Given the description of an element on the screen output the (x, y) to click on. 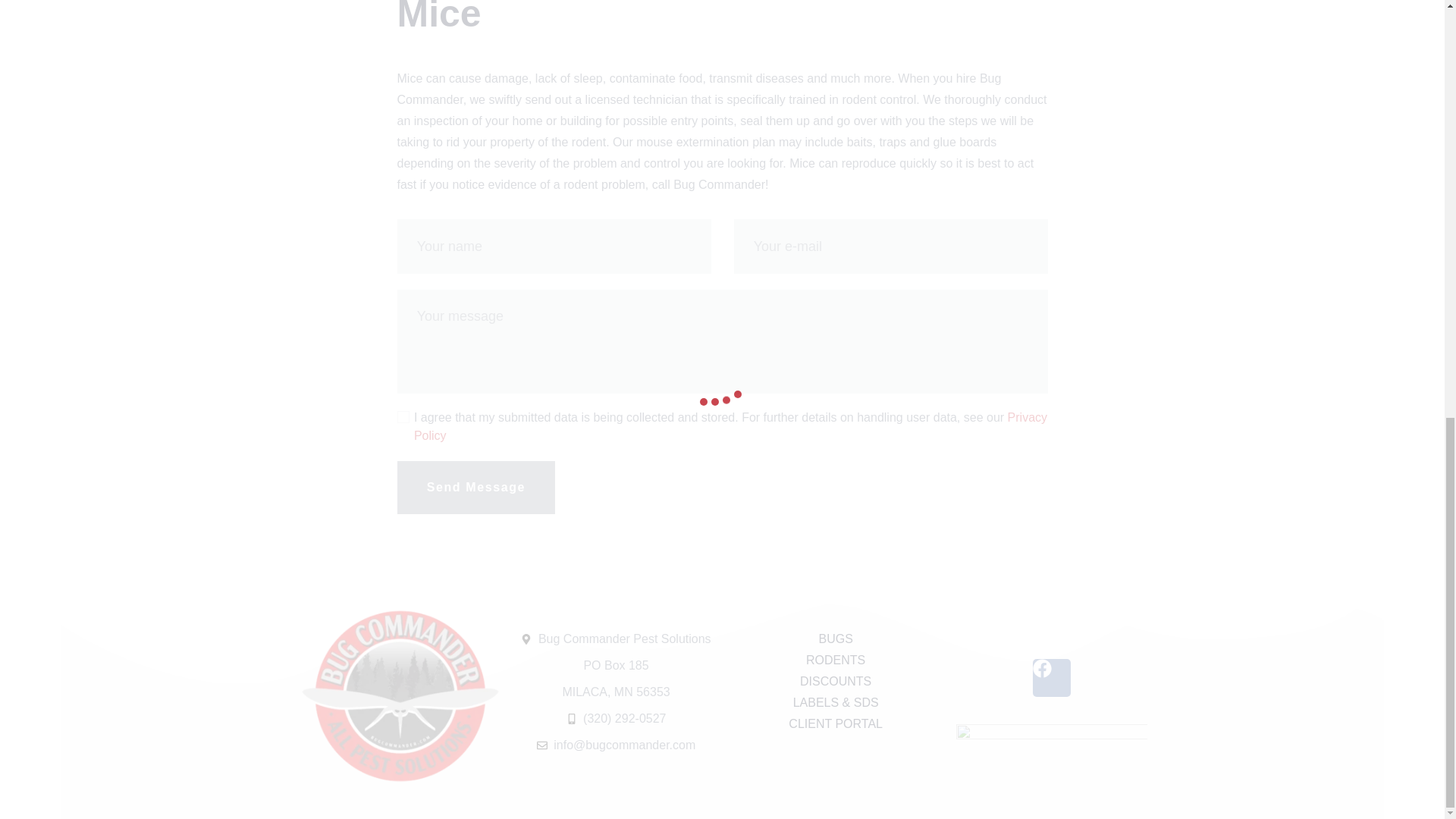
Privacy Policy (729, 426)
BUGS (835, 639)
DISCOUNTS (835, 681)
CLIENT PORTAL (835, 723)
Send Message (476, 487)
RODENTS (835, 660)
